Given the description of an element on the screen output the (x, y) to click on. 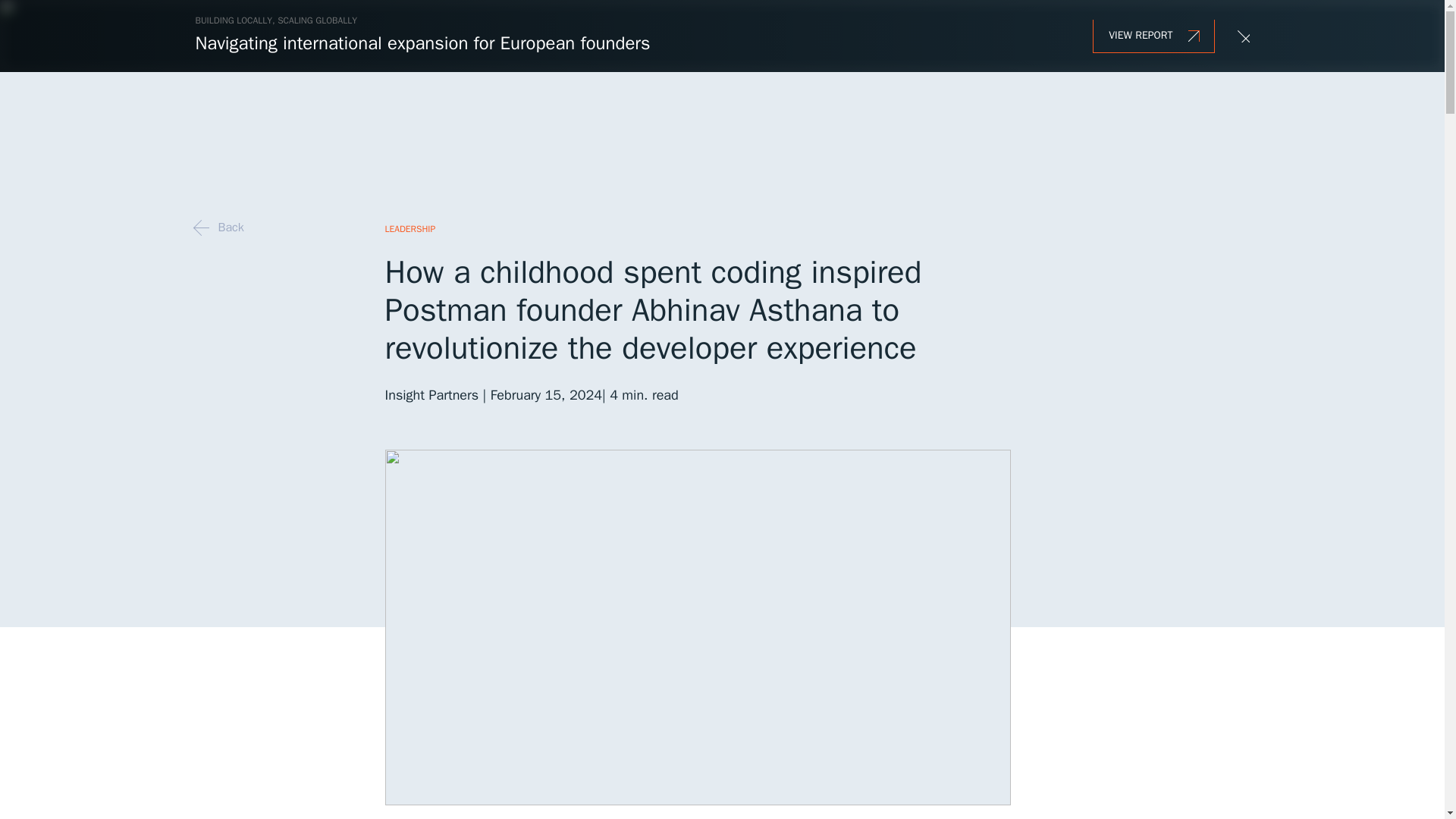
Go to home page (217, 125)
home (217, 125)
Navigating international expansion for European founders (422, 42)
VIEW REPORT (1153, 36)
Back (221, 227)
